Given the description of an element on the screen output the (x, y) to click on. 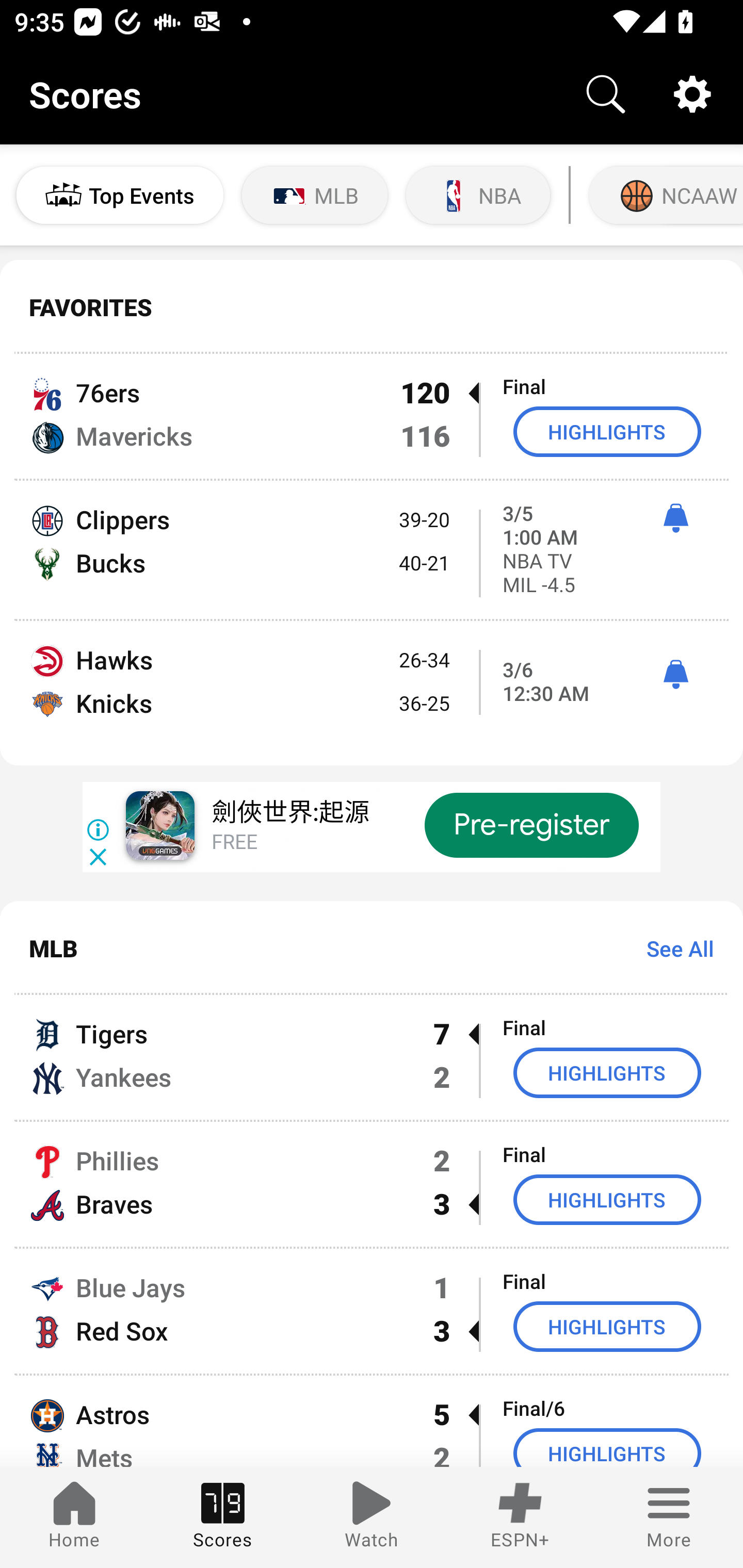
Search (605, 93)
Settings (692, 93)
 Top Events (119, 194)
MLB (314, 194)
NBA (477, 194)
NCAAW (664, 194)
FAVORITES (371, 307)
76ers 120  Final Mavericks 116 HIGHLIGHTS (371, 416)
HIGHLIGHTS (607, 431)
ì (675, 517)
Hawks 26-34 Knicks 36-25 3/6 12:30 AM ì (371, 692)
ì (675, 674)
Pre-register (530, 825)
劍俠世界:起源 (289, 813)
FREE (234, 843)
MLB See All (371, 948)
See All (673, 947)
Tigers 7  Final Yankees 2 HIGHLIGHTS (371, 1057)
HIGHLIGHTS (607, 1072)
Phillies 2 Final Braves 3  HIGHLIGHTS (371, 1183)
HIGHLIGHTS (607, 1199)
Blue Jays 1 Final Red Sox 3  HIGHLIGHTS (371, 1310)
HIGHLIGHTS (607, 1326)
Astros 5  Final/6 Mets 2 HIGHLIGHTS (371, 1421)
HIGHLIGHTS (607, 1447)
Home (74, 1517)
Watch (371, 1517)
ESPN+ (519, 1517)
More (668, 1517)
